Given the description of an element on the screen output the (x, y) to click on. 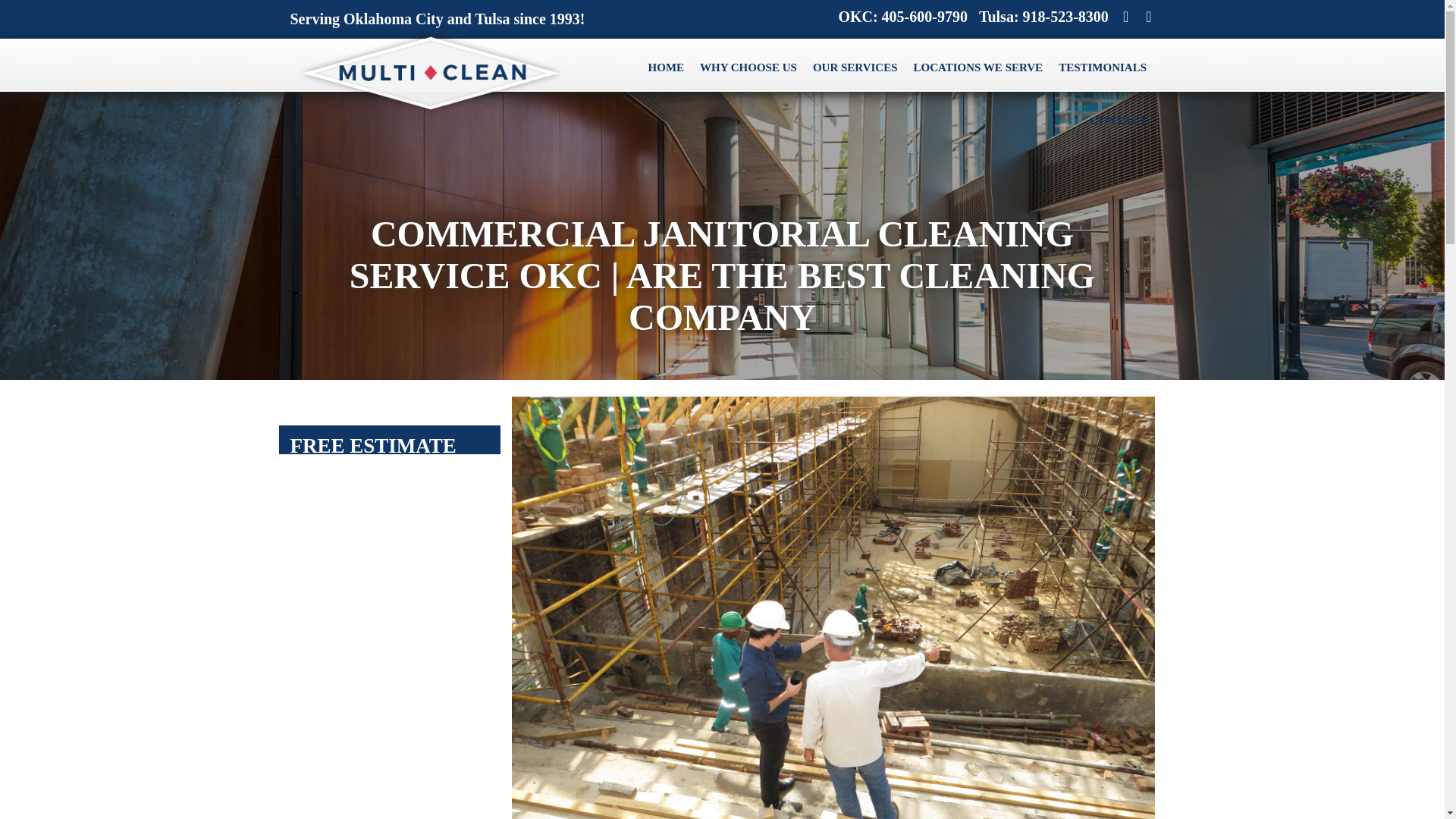
CONTACT (1118, 120)
Tulsa: 918-523-8300 (1038, 17)
LOCATIONS WE SERVE (978, 68)
HOME (666, 68)
OKC: 405-600-9790 (897, 17)
OUR SERVICES (855, 68)
WHY CHOOSE US (749, 68)
TESTIMONIALS (1102, 68)
